Given the description of an element on the screen output the (x, y) to click on. 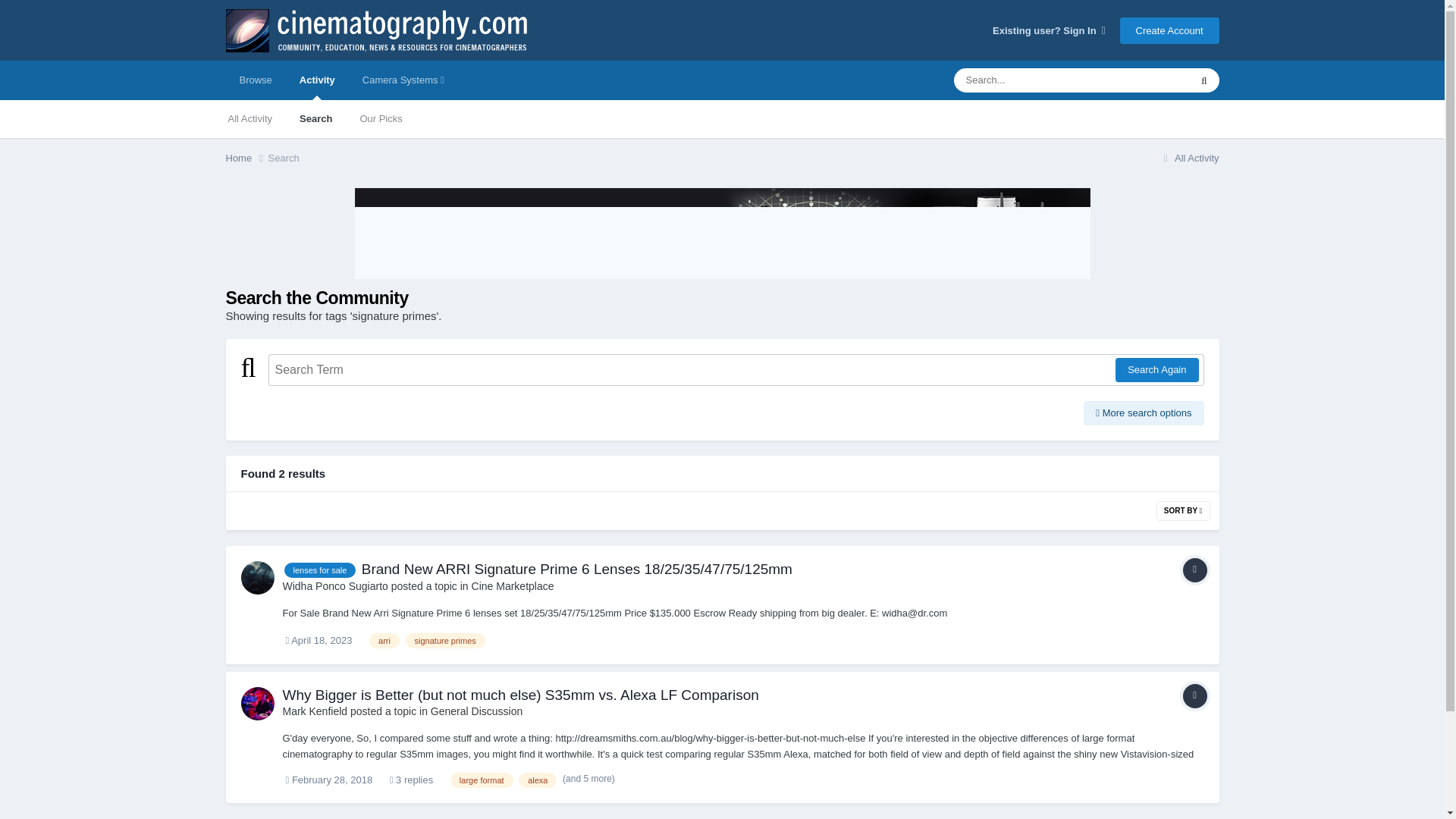
Go to Mark Kenfield's profile (314, 711)
Search (315, 118)
Create Account (1169, 29)
Go to Widha Ponco Sugiarto's profile (258, 577)
Topic (1194, 695)
Find other content tagged with 'signature primes' (445, 640)
Our Picks (380, 118)
Find other content tagged with 'large format' (481, 780)
Activity (317, 79)
All Activity (249, 118)
